Given the description of an element on the screen output the (x, y) to click on. 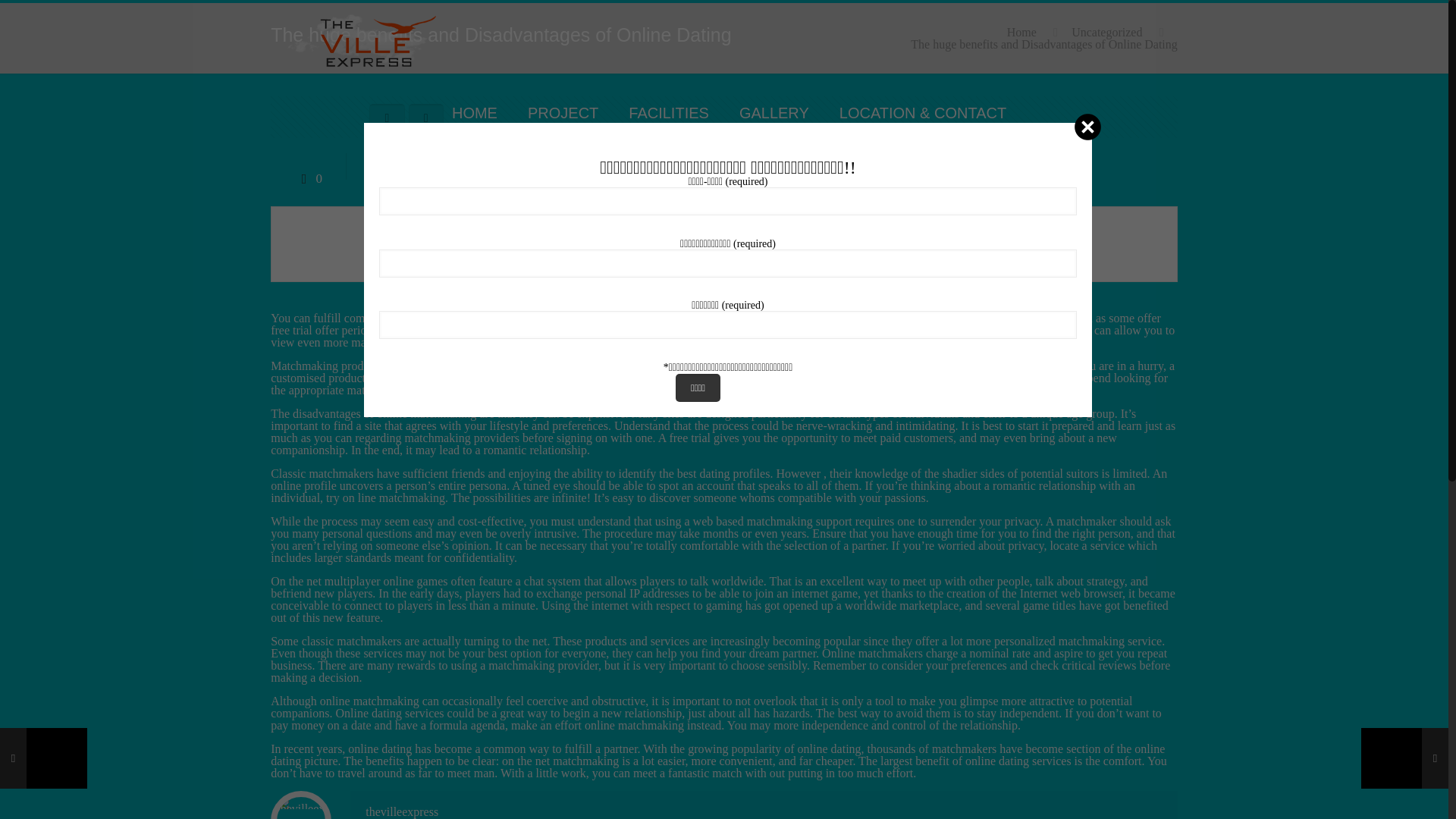
The Ville Express (361, 40)
PROJECT (562, 112)
0 (307, 178)
Close (1087, 126)
GALLERY (773, 112)
Home (1021, 31)
HOME (474, 112)
thevilleexpress (401, 811)
Uncategorized (1106, 31)
FACILITIES (667, 112)
